Given the description of an element on the screen output the (x, y) to click on. 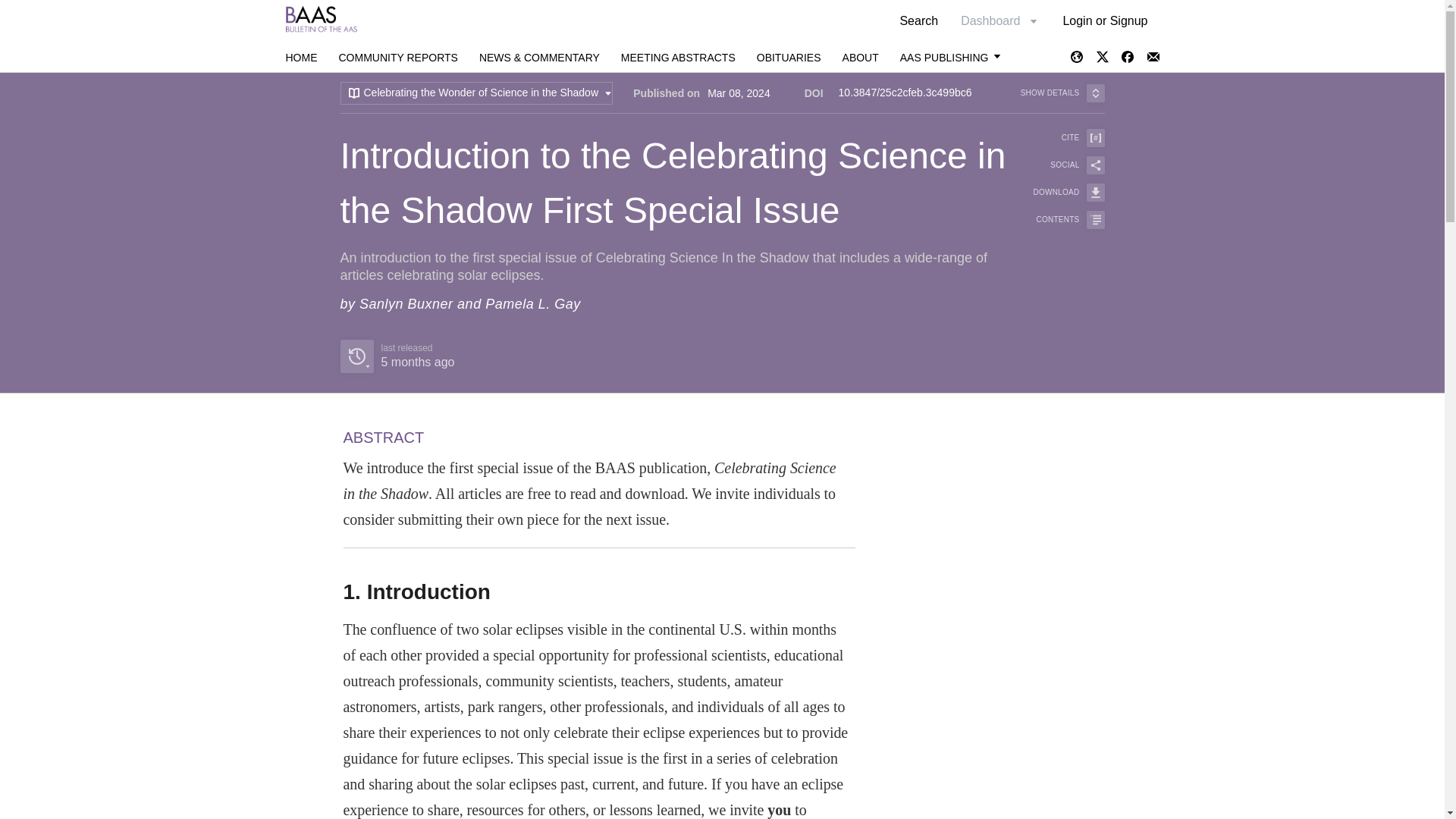
SOCIAL (1058, 165)
OBITUARIES (789, 57)
MEETING ABSTRACTS (678, 57)
2024-03-08 17:54 (417, 361)
SHOW DETAILS (1062, 93)
Login or Signup (396, 356)
Search (1104, 20)
COMMUNITY REPORTS (918, 20)
ABOUT (397, 57)
Dashboard (861, 57)
HOME (1000, 20)
DOWNLOAD (301, 57)
CITE (1058, 192)
CONTENTS (1058, 137)
